Given the description of an element on the screen output the (x, y) to click on. 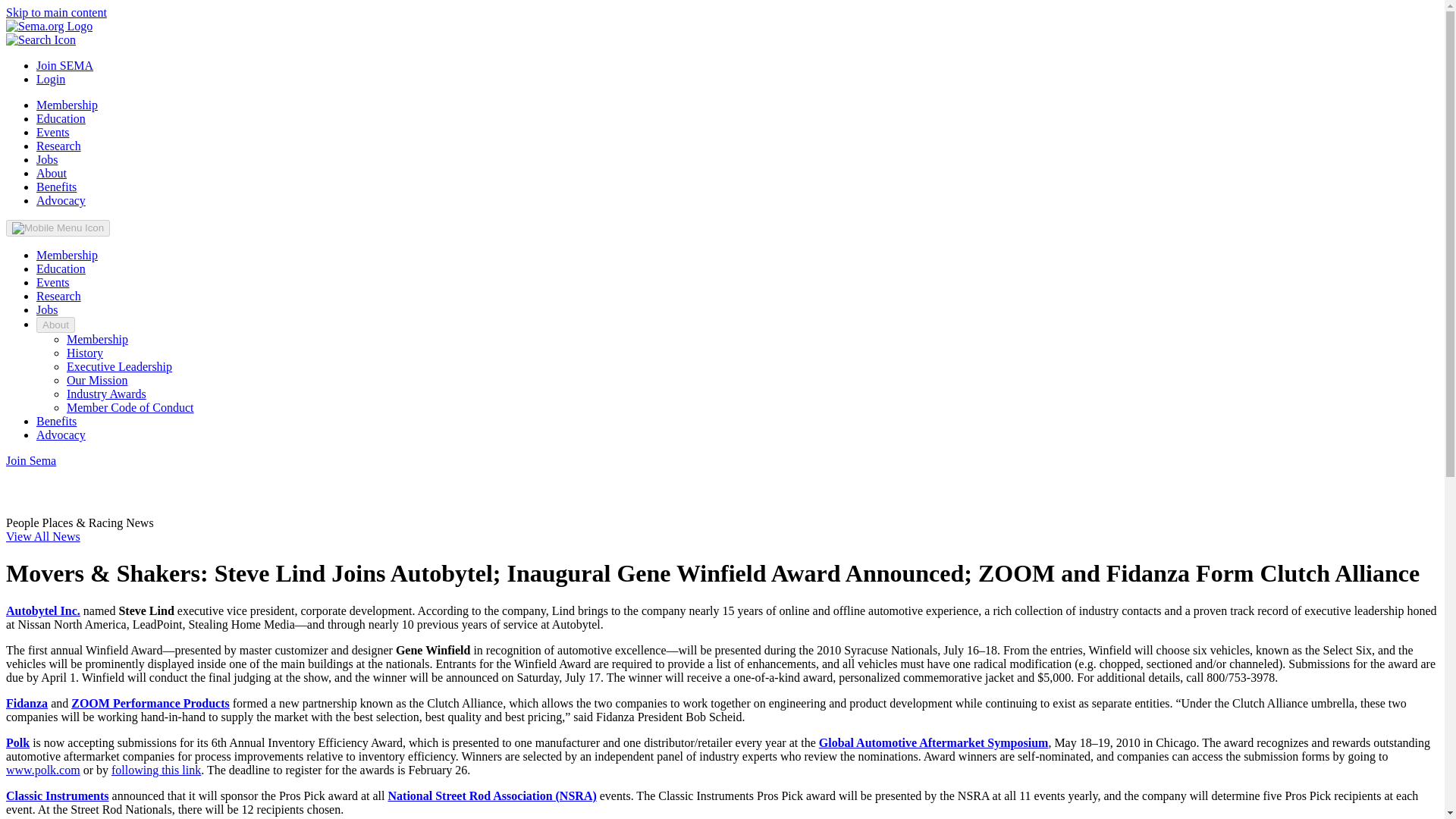
About (55, 324)
Login (50, 78)
About (51, 173)
Education (60, 118)
following this link (156, 769)
ZOOM Performance Products (150, 703)
Membership (66, 104)
Skip to main content (55, 11)
Membership (97, 338)
Benefits (56, 186)
